Given the description of an element on the screen output the (x, y) to click on. 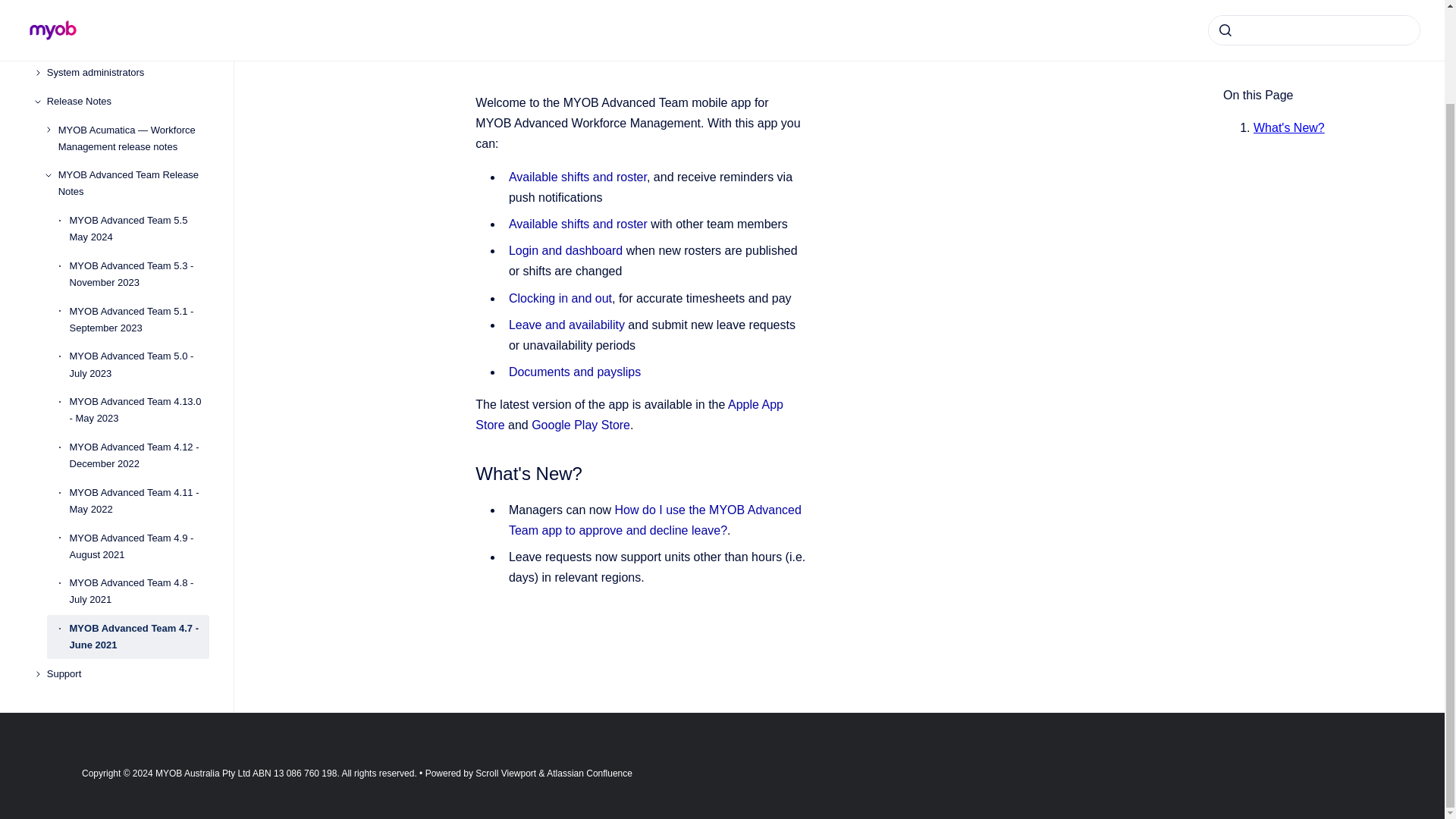
Clocking in and out (559, 297)
MYOB Advanced Team 5.1 - September 2023 (139, 295)
MYOB Advanced Team Release Notes (133, 159)
Managers (127, 20)
Login and dashboard (565, 250)
MYOB Advanced Team 5.0 - July 2023 (139, 341)
MYOB Advanced Team 4.9 - August 2021 (139, 522)
Release Notes (127, 76)
System administrators (127, 48)
MYOB Advanced Team 4.11 - May 2022 (139, 476)
Employees (127, 2)
Available shifts and roster (577, 176)
MYOB Advanced Team 5.5 May 2024 (139, 204)
MYOB Advanced Team 5.3 - November 2023 (139, 249)
MYOB Advanced Team 4.7 - June 2021 (139, 612)
